Given the description of an element on the screen output the (x, y) to click on. 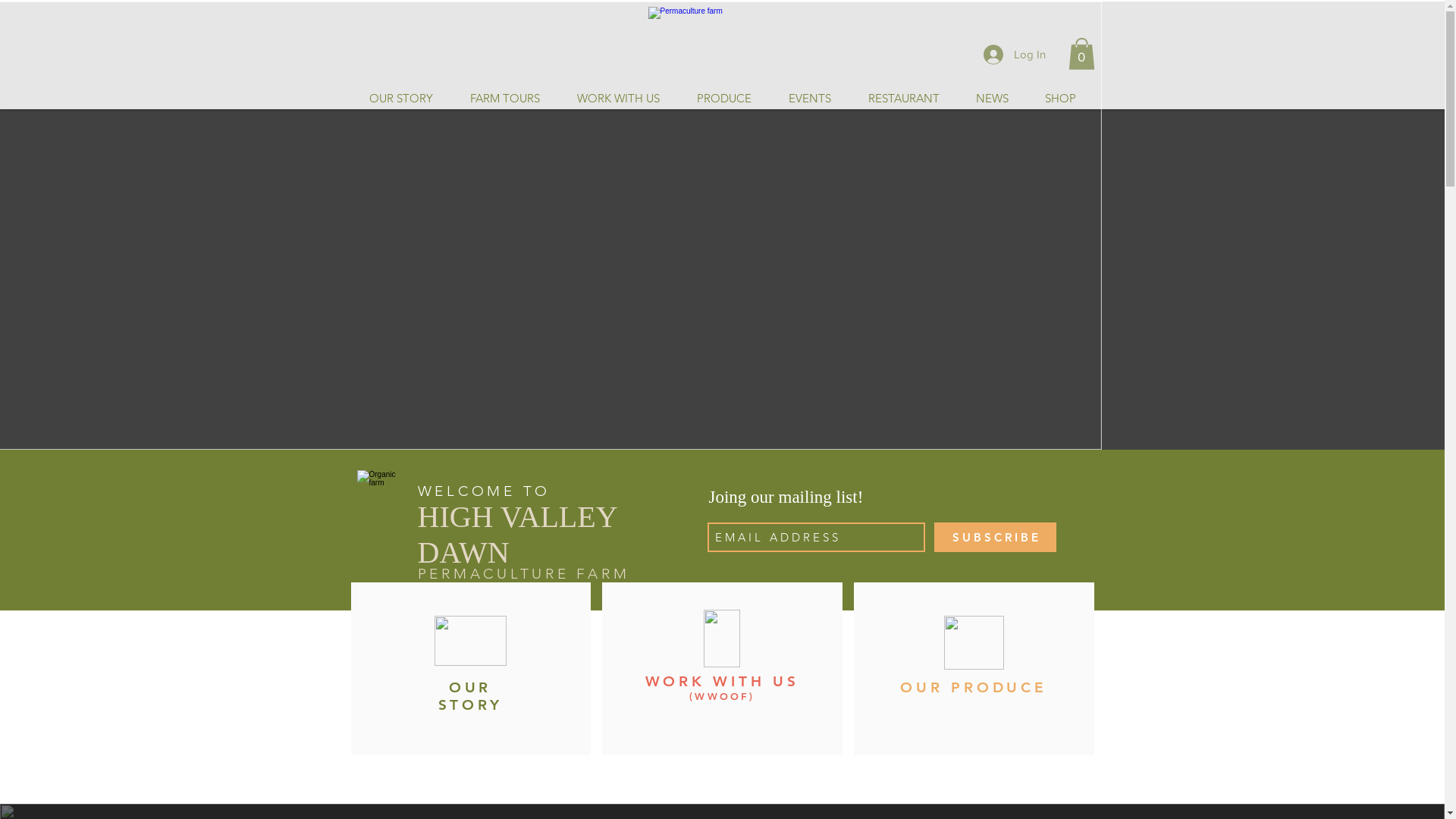
OUR STORY Element type: text (470, 695)
OUR STORY Element type: text (400, 98)
S U B S C R I B E Element type: text (995, 537)
(WWOOF) Element type: text (721, 696)
WORK WITH US Element type: text (721, 681)
0 Element type: text (1080, 53)
SHOP Element type: text (1060, 98)
PRODUCE Element type: text (723, 98)
WORK WITH US Element type: text (617, 98)
RESTAURANT Element type: text (903, 98)
EVENTS Element type: text (808, 98)
NEWS Element type: text (991, 98)
Log In Element type: text (1013, 53)
FARM TOURS Element type: text (503, 98)
OUR PRODUCE Element type: text (973, 687)
